Given the description of an element on the screen output the (x, y) to click on. 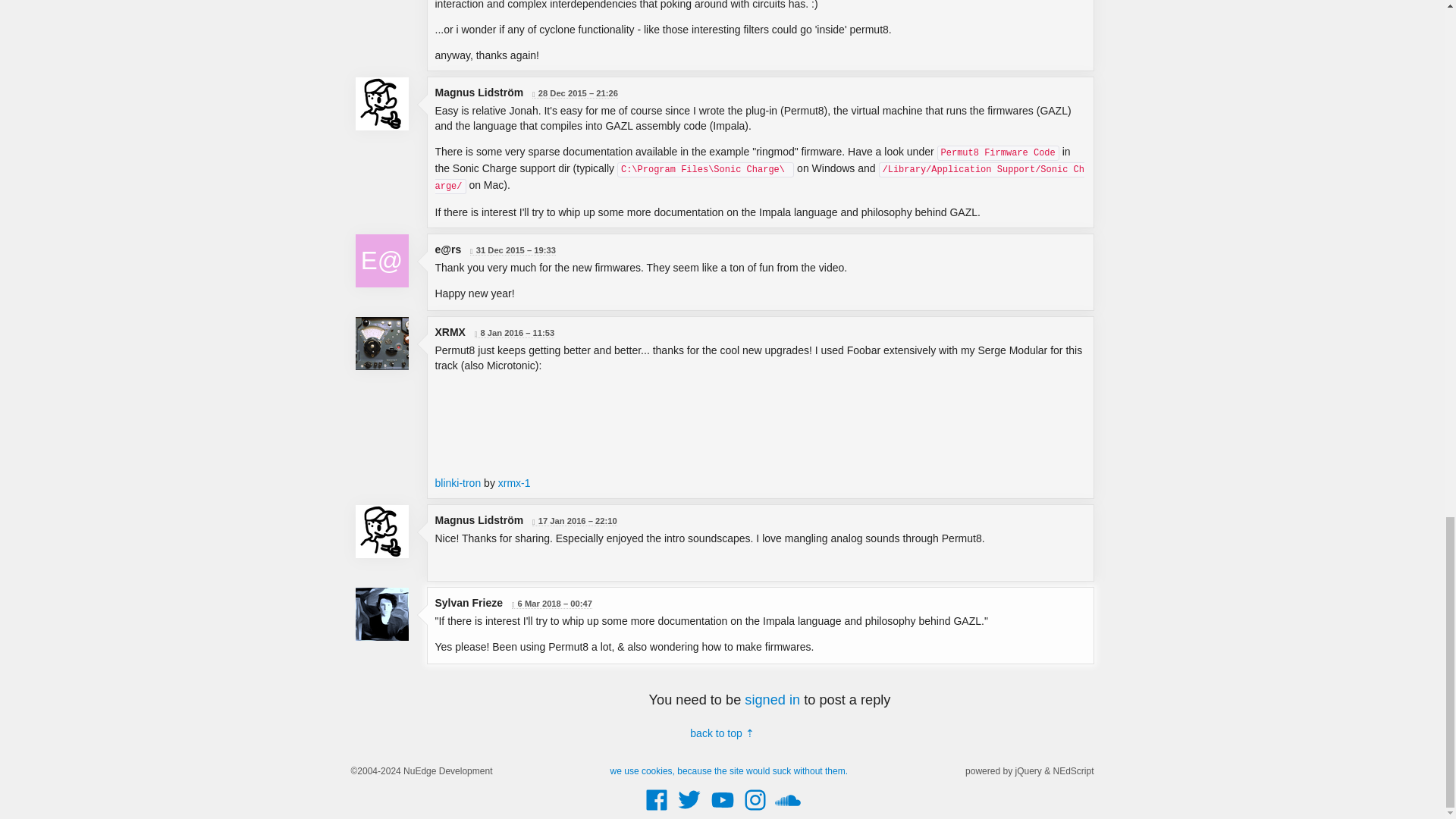
SoundCloud (788, 810)
signed in (771, 699)
xrmx-1 (514, 482)
YouTube (721, 810)
blinki-tron (458, 482)
Facebook (656, 810)
Twitter (689, 810)
Instagram (754, 810)
we use cookies, because the site would suck without them. (729, 770)
